Given the description of an element on the screen output the (x, y) to click on. 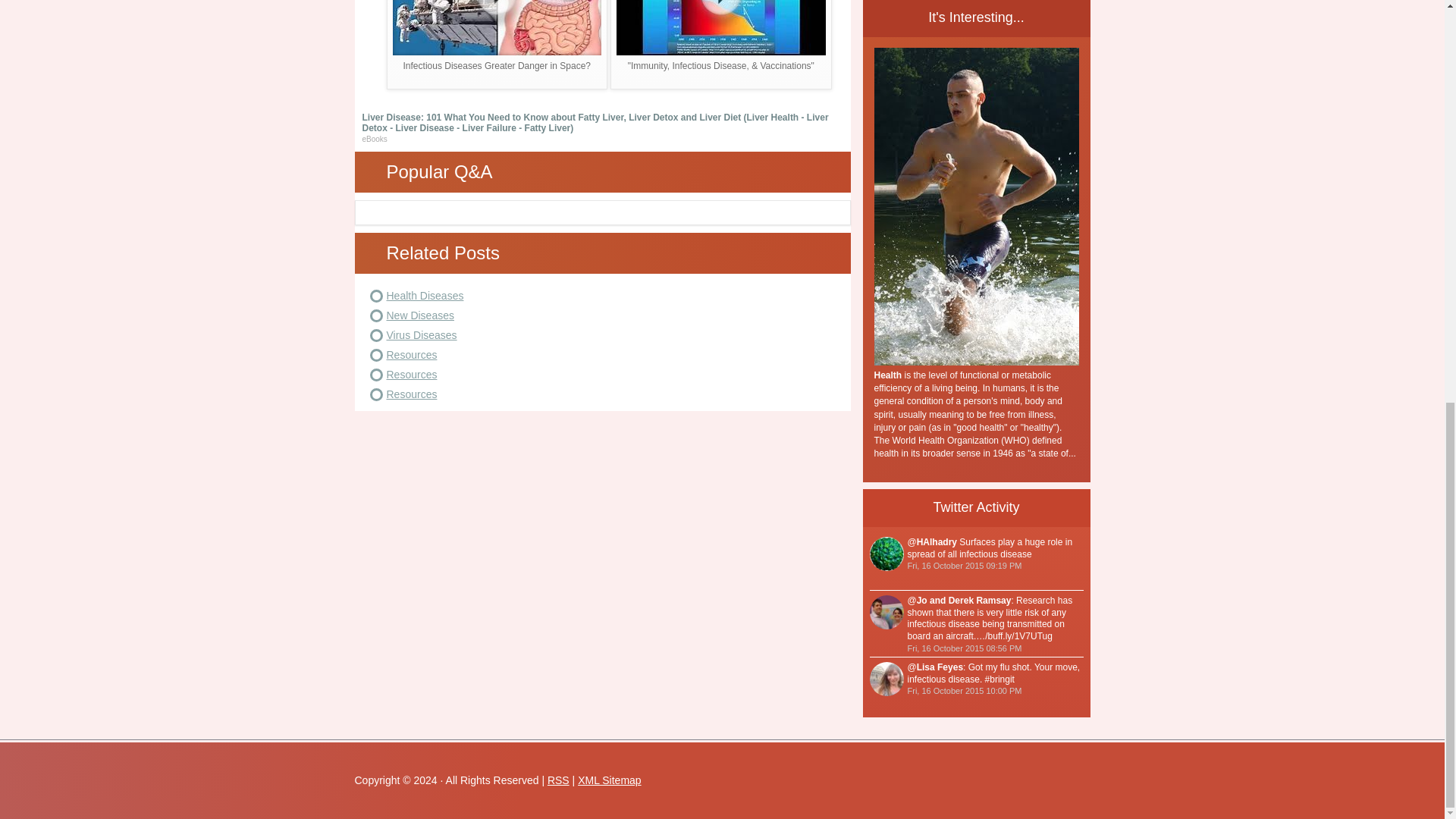
Resources (412, 354)
View this video from YouTube (720, 44)
Health Diseases (425, 295)
XML Sitemap (610, 779)
View this video from YouTube (497, 44)
Resources (412, 394)
New Diseases (420, 315)
RSS (558, 779)
Resources (412, 374)
Virus Diseases (422, 335)
